Given the description of an element on the screen output the (x, y) to click on. 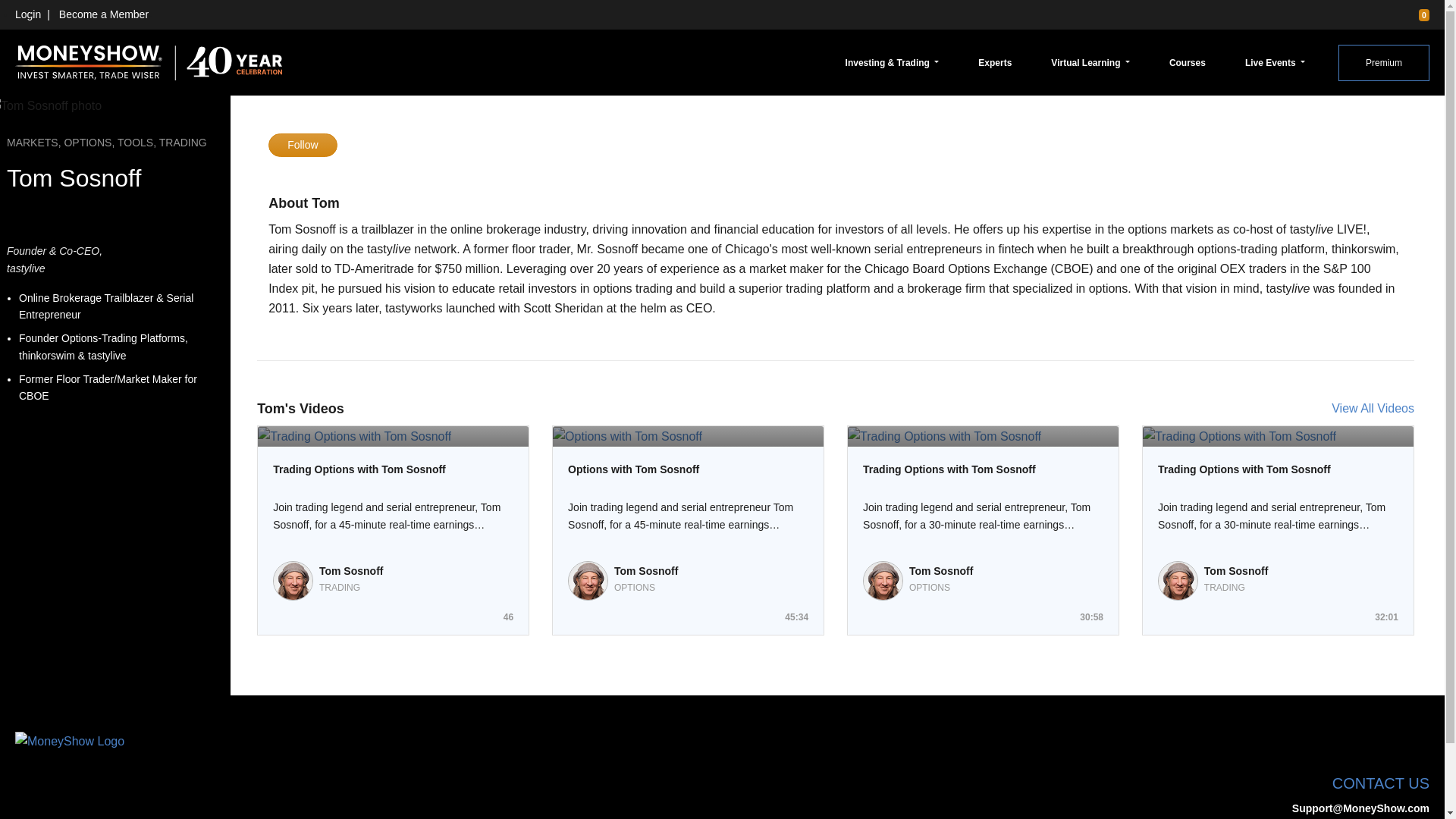
Trading Options with Tom Sosnoff (393, 469)
0 (1416, 14)
View All Videos (1372, 408)
Premium (1383, 62)
Options with Tom Sosnoff (687, 469)
Trading Options with Tom Sosnoff (983, 469)
Courses (1187, 62)
Follow (301, 145)
Tom Sosnoff (351, 571)
Live Events (1275, 62)
